Given the description of an element on the screen output the (x, y) to click on. 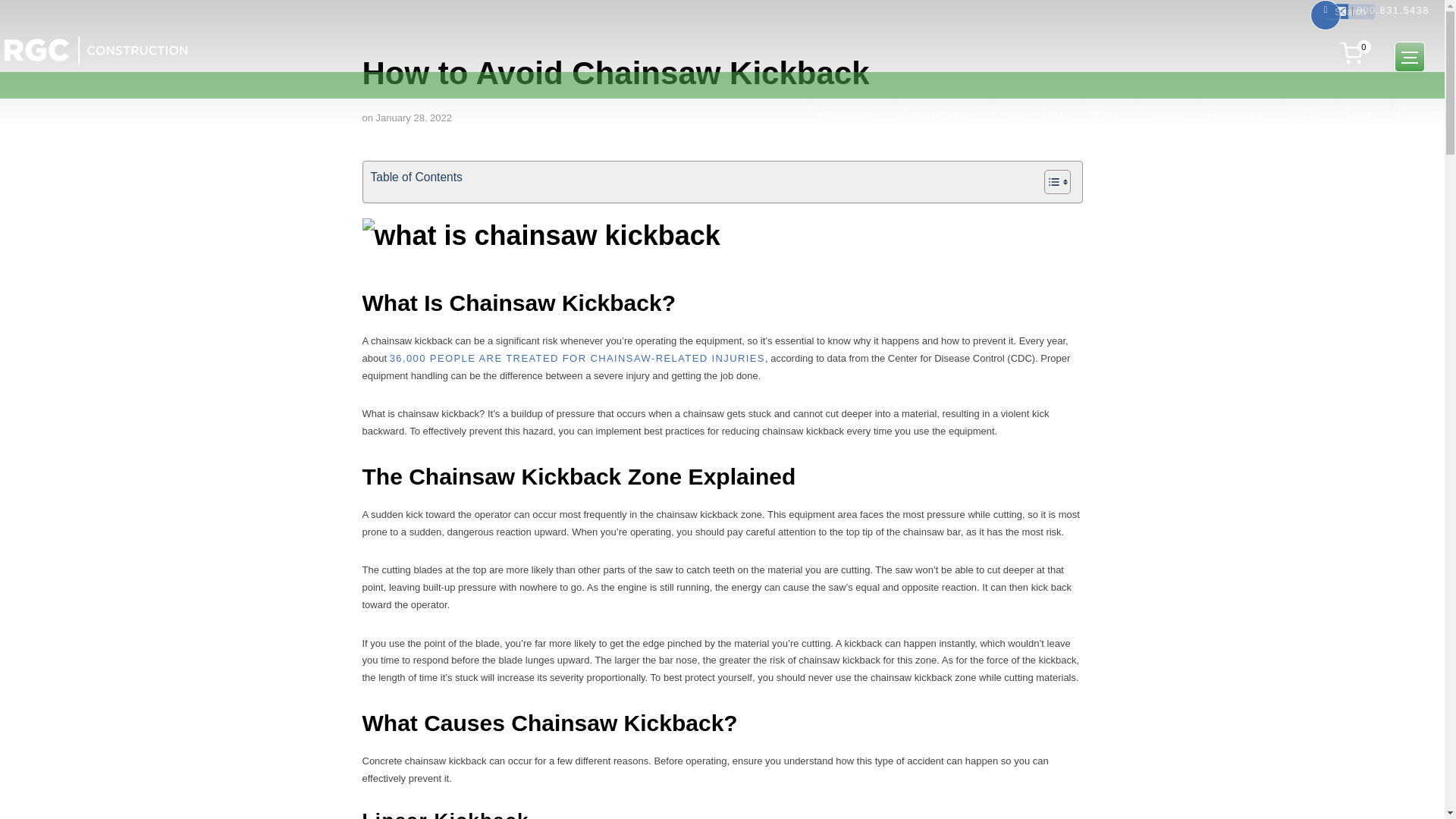
0 (1353, 53)
Search (15, 15)
View your shopping cart (1353, 53)
800.831.5438 (1392, 9)
EMAIL-ADDRESS (1340, 11)
